Given the description of an element on the screen output the (x, y) to click on. 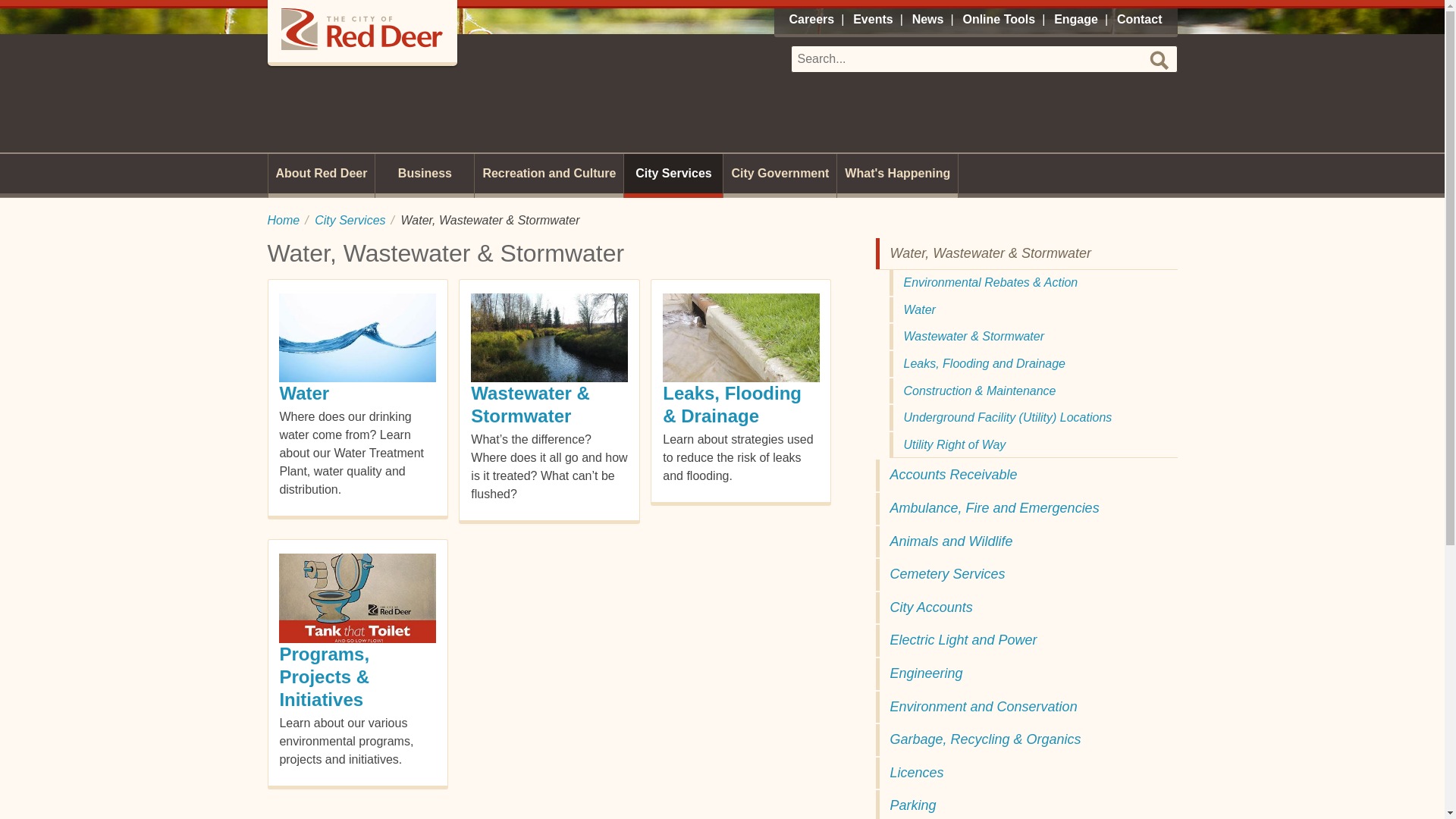
Water (1032, 309)
Cemetery Services (1025, 574)
Utility Right of Way (1032, 444)
Animals and Wildlife (1025, 541)
The City of Red Deer (361, 31)
City Services (349, 219)
City Accounts (1025, 608)
Ambulance, Fire and Emergencies (1025, 508)
Home (282, 219)
Engineering (1025, 674)
